Given the description of an element on the screen output the (x, y) to click on. 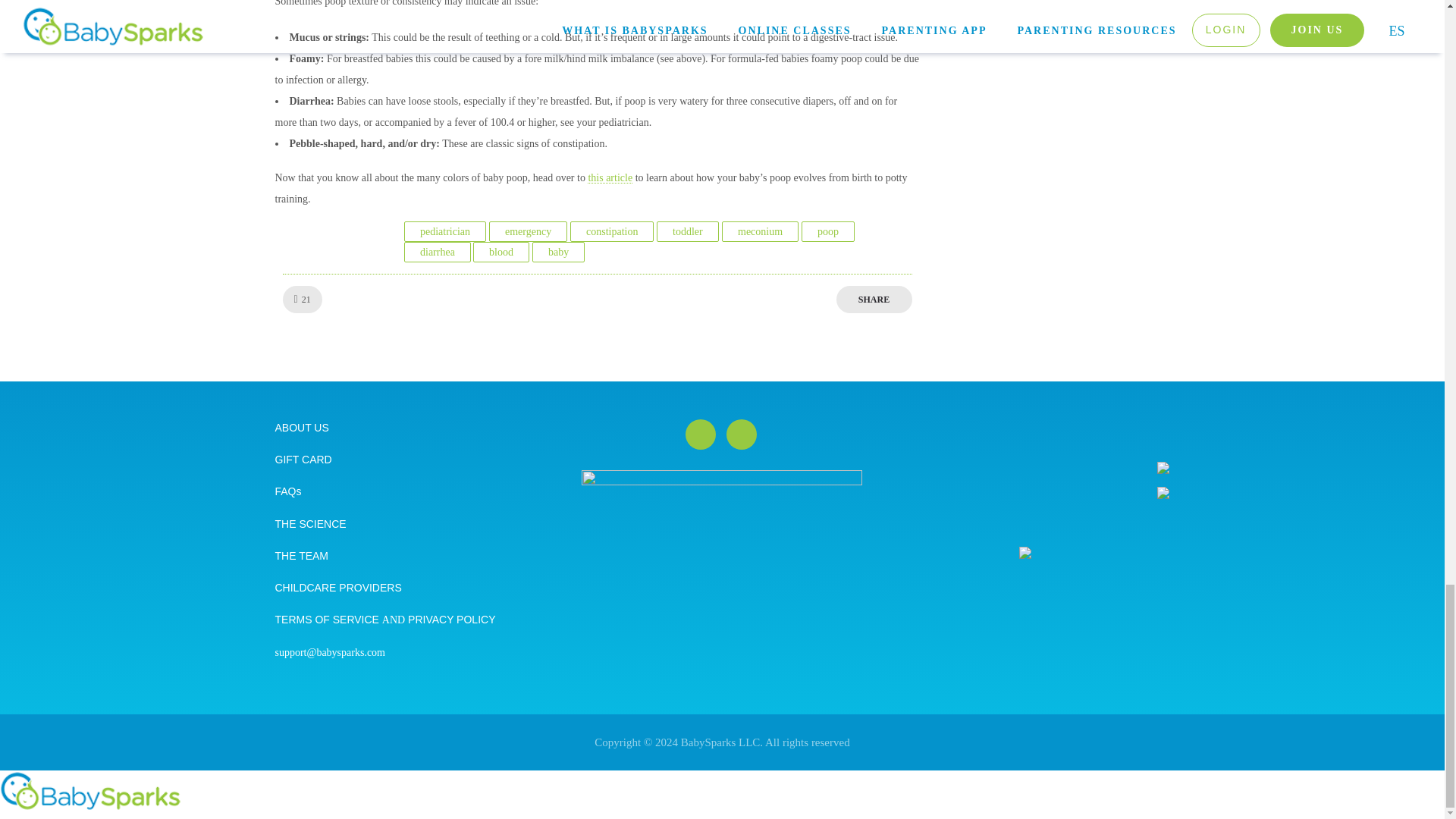
diarrhea (437, 251)
emergency (527, 230)
blood (501, 251)
this article (609, 177)
pediatrician (444, 230)
meconium (759, 230)
toddler (687, 230)
constipation (611, 230)
poop (827, 230)
